Given the description of an element on the screen output the (x, y) to click on. 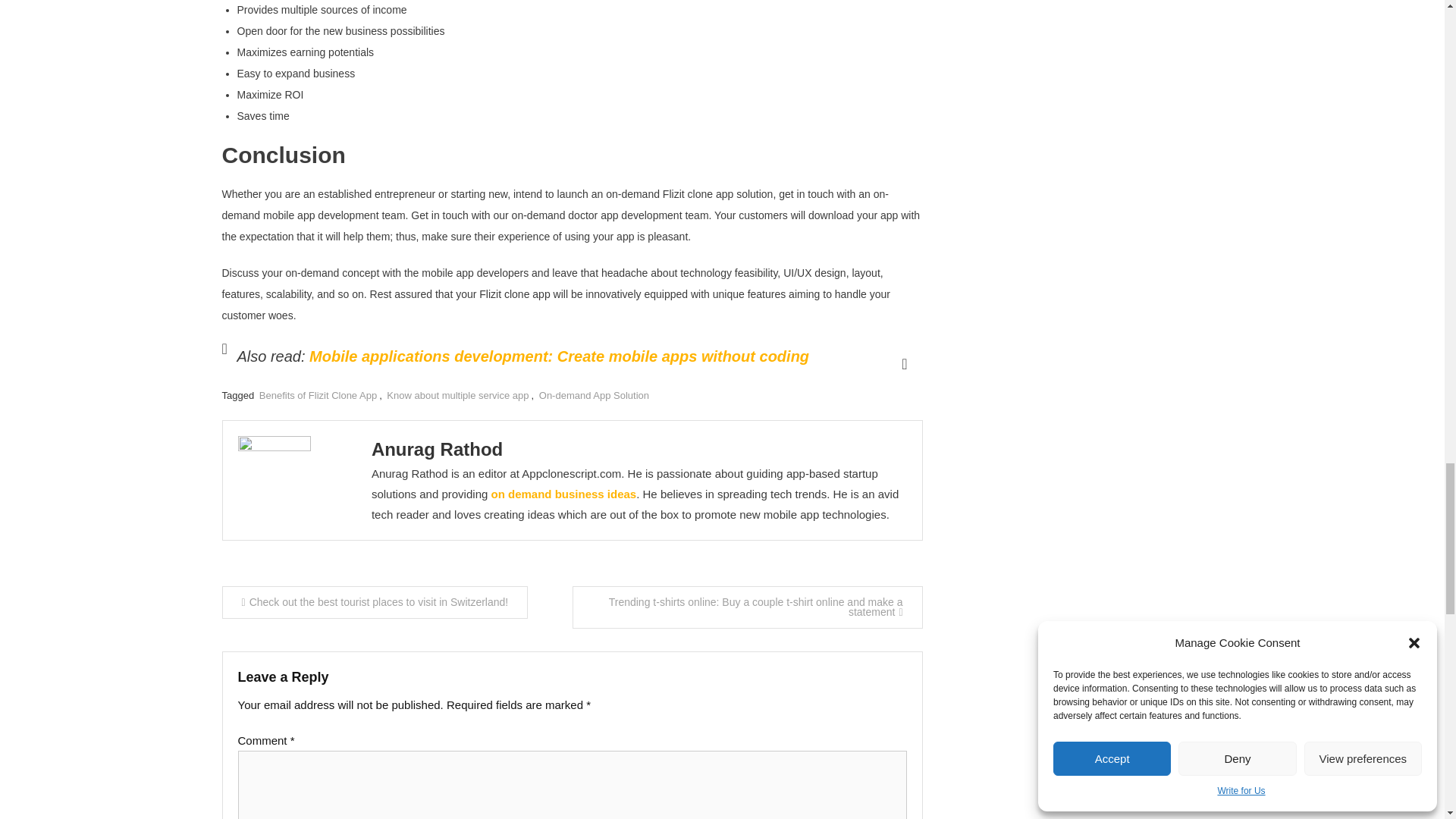
Posts by Anurag Rathod (436, 448)
